Given the description of an element on the screen output the (x, y) to click on. 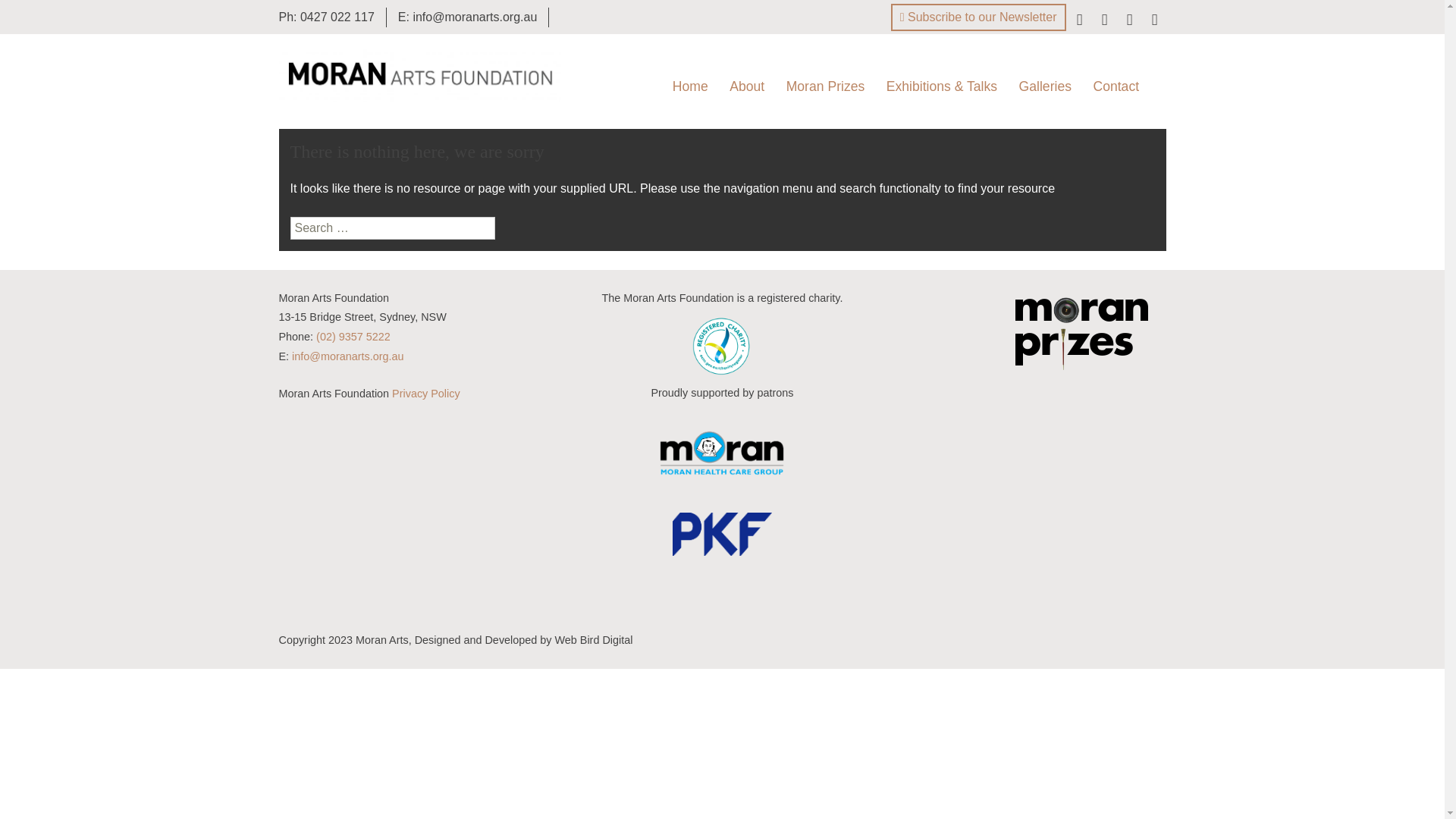
Contact Element type: text (1115, 86)
Like us on Facebook Element type: hover (1078, 20)
info@moranarts.org.au Element type: text (347, 356)
Back to Moran Arts homepage  Element type: hover (420, 74)
Ph: 0427 022 117 Element type: text (326, 16)
Moran Gallery Sylvania Element type: text (1084, 128)
Web Bird Digital Element type: text (593, 639)
Privacy Policy Element type: text (426, 393)
E: info@moranarts.org.au Element type: text (467, 16)
Follow us on Instagram Element type: hover (1128, 20)
Tweet with us on Twitter Element type: hover (1104, 20)
Moran Prizes Element type: text (825, 86)
Search Element type: text (37, 15)
Subscribe to our Newsletter Element type: text (978, 17)
Home Element type: text (690, 86)
(02) 9357 5222 Element type: text (353, 336)
Follow our Youtube channel Element type: hover (1154, 20)
Exhibitions & Talks Element type: text (941, 86)
Galleries Element type: text (1045, 86)
About Element type: text (746, 86)
